Given the description of an element on the screen output the (x, y) to click on. 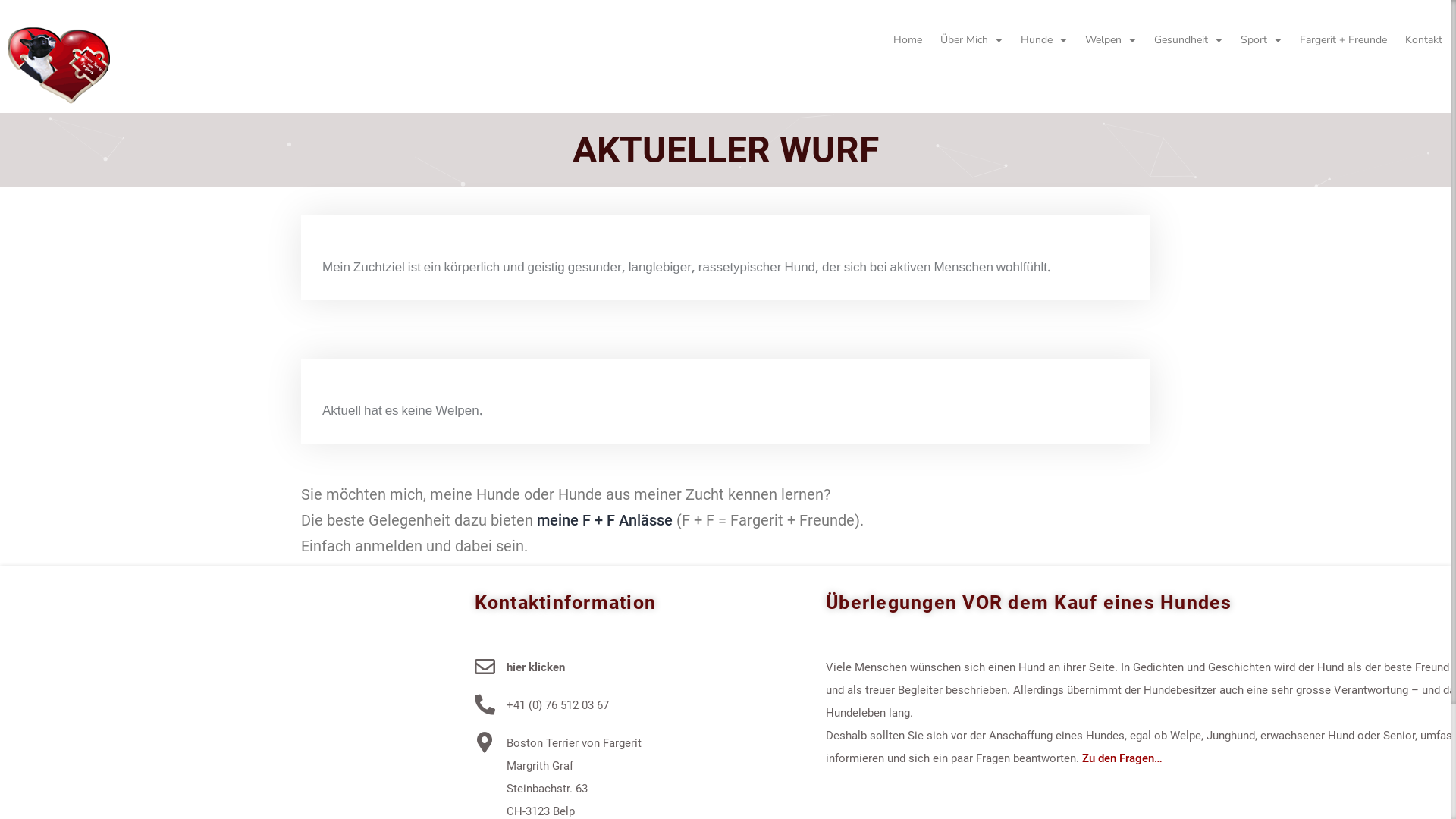
Home Element type: text (907, 39)
Kontakt Element type: text (1423, 39)
Welpen Element type: text (1110, 39)
hier klicken Element type: text (535, 667)
Sport Element type: text (1260, 39)
Fargerit + Freunde Element type: text (1343, 39)
Hunde Element type: text (1043, 39)
Gesundheit Element type: text (1188, 39)
Aktuell hat es keine Welpen. Element type: text (402, 410)
